Given the description of an element on the screen output the (x, y) to click on. 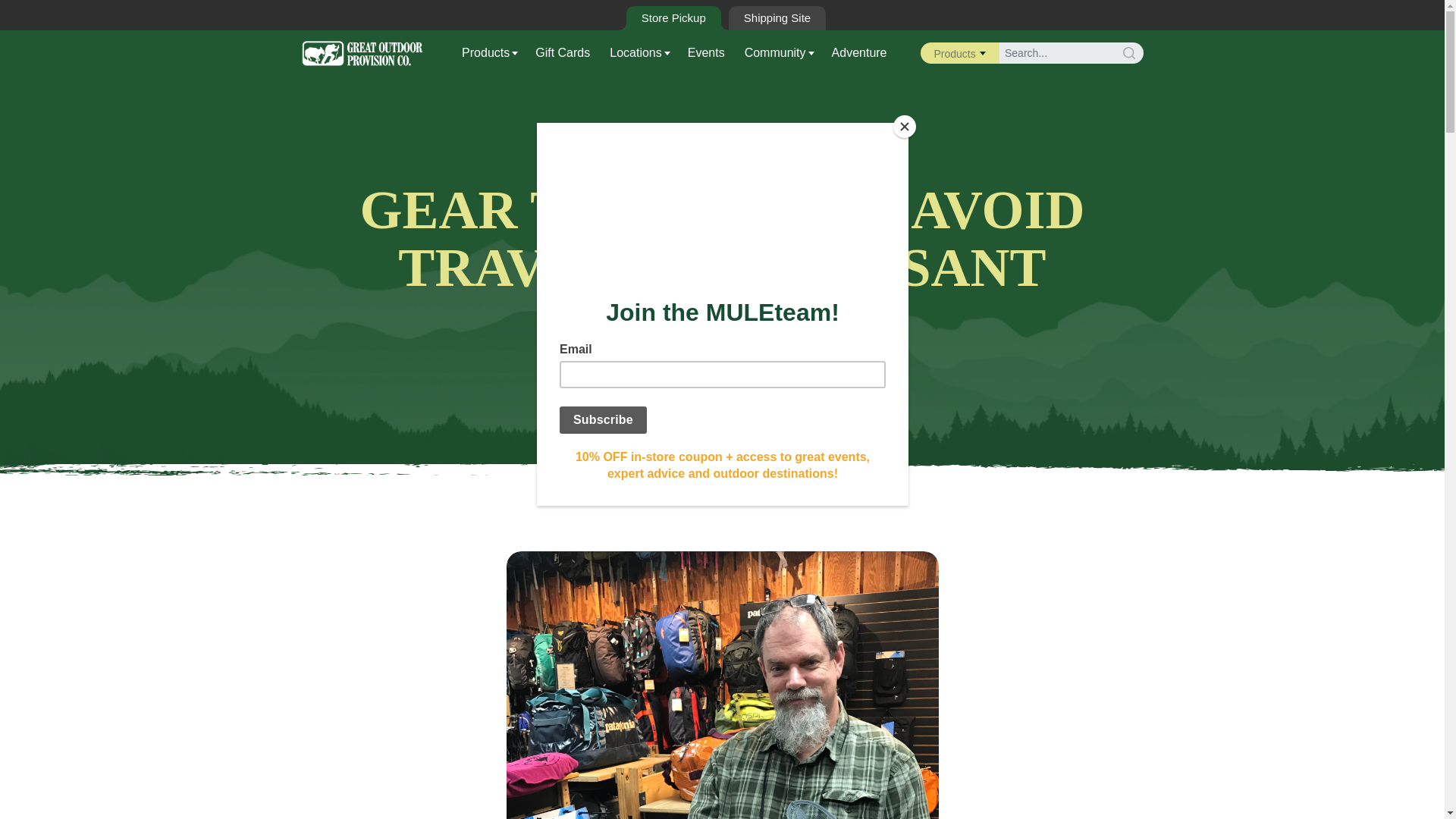
Great Outdoor Provision Company (362, 52)
Shipping Site (777, 17)
Store Pickup (673, 17)
Products (491, 53)
